Given the description of an element on the screen output the (x, y) to click on. 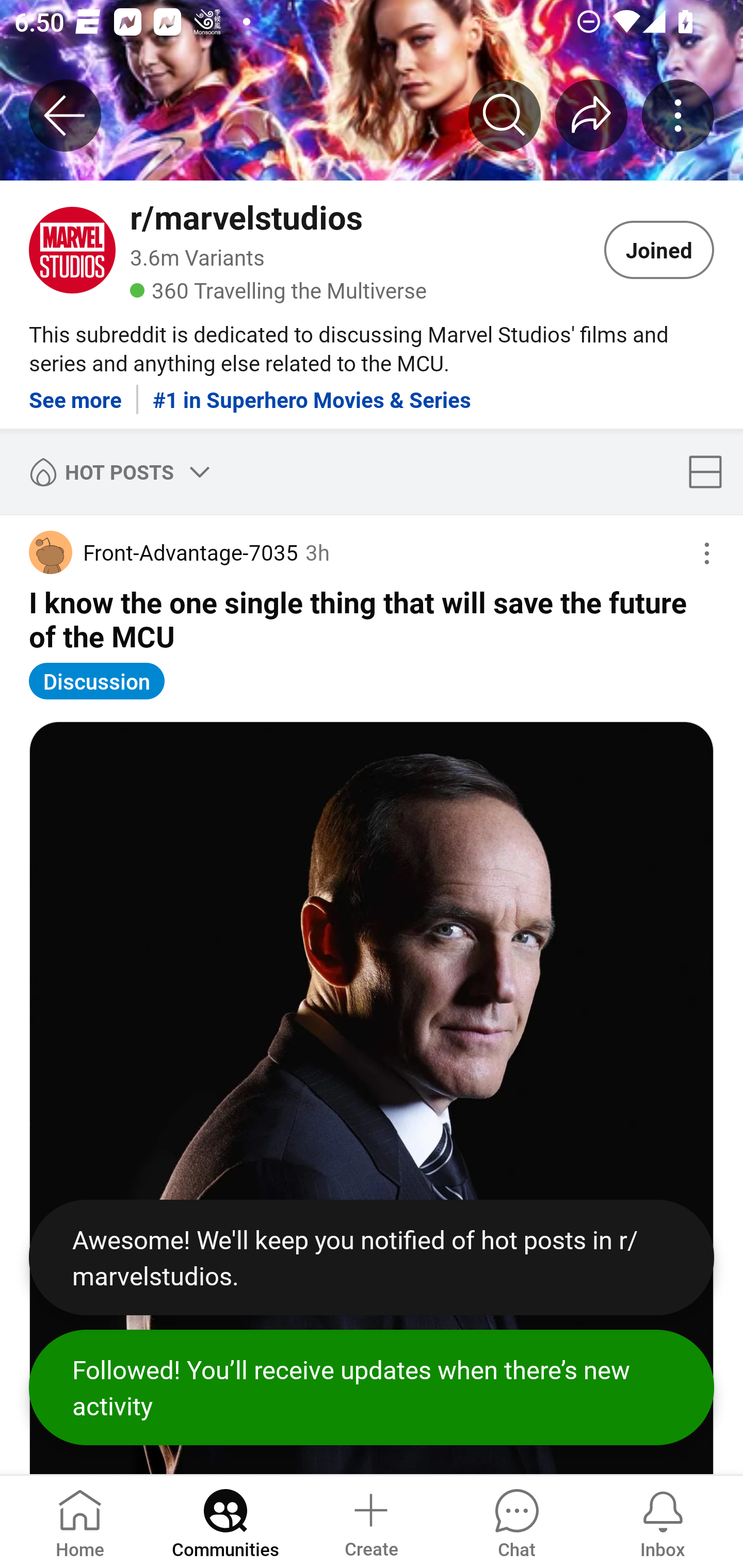
Back (64, 115)
Search r/﻿marvelstudios (504, 115)
Share r/﻿marvelstudios (591, 115)
More community actions (677, 115)
See more (74, 391)
#1 in Superhero Movies & Series (312, 391)
HOT POSTS Sort by Hot posts (115, 471)
Card display (711, 471)
Author Front-Advantage-7035 (162, 552)
Discussion (96, 681)
Image (371, 1097)
Home (80, 1520)
Communities (225, 1520)
Create a post Create (370, 1520)
Chat (516, 1520)
Inbox (662, 1520)
